Given the description of an element on the screen output the (x, y) to click on. 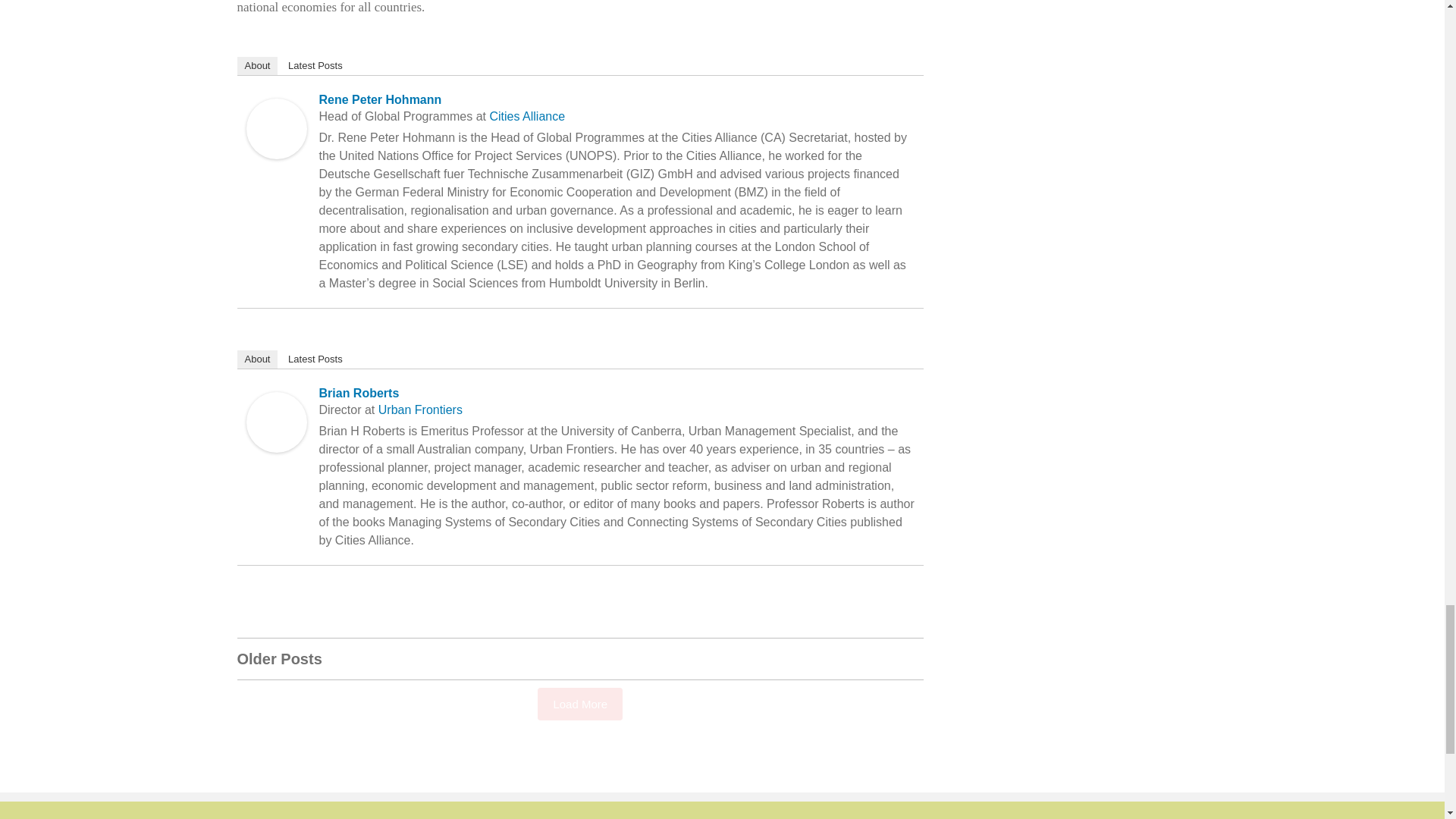
Rene Peter Hohmann (275, 108)
Brian Roberts (275, 401)
